Given the description of an element on the screen output the (x, y) to click on. 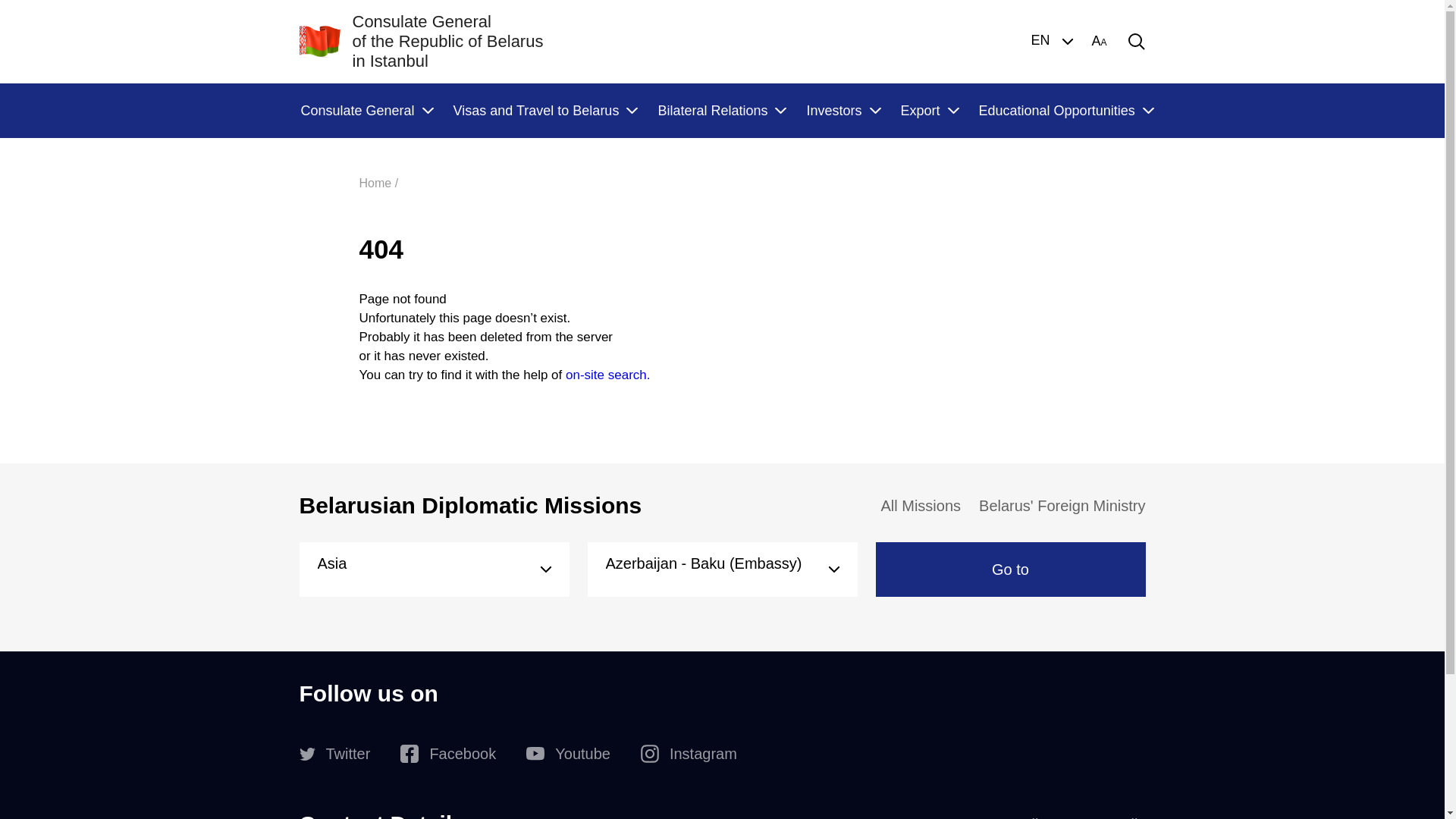
Facebook Element type: text (447, 753)
Bilateral Relations Element type: text (720, 110)
Educational Opportunities Element type: text (1065, 110)
Visas and Travel to Belarus Element type: text (544, 110)
Youtube Element type: text (568, 753)
Consulate General Element type: text (365, 110)
Consulate General
of the Republic of Belarus
in Istanbul Element type: text (420, 41)
Twitter Element type: text (334, 753)
on-site search. Element type: text (607, 374)
Instagram Element type: text (688, 753)
Investors Element type: text (842, 110)
All Missions Element type: text (920, 505)
Belarus' Foreign Ministry Element type: text (1062, 505)
Export Element type: text (929, 110)
Go to Element type: text (1010, 569)
AA Element type: text (1098, 41)
Home / Element type: text (378, 182)
